Given the description of an element on the screen output the (x, y) to click on. 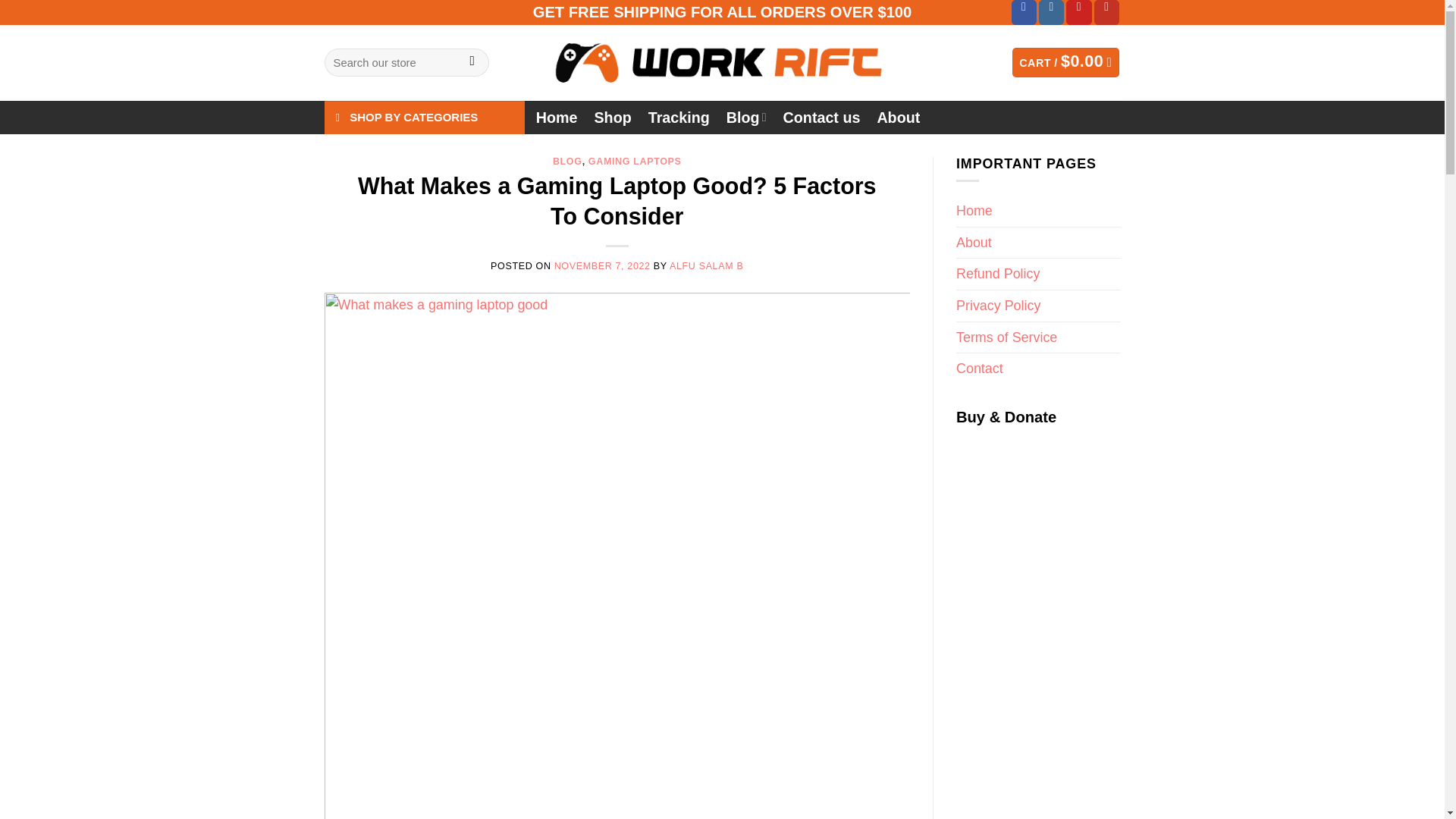
Follow on Instagram (1051, 12)
Search (472, 62)
Follow on Pinterest (1077, 12)
Shop (612, 117)
Blog (746, 117)
Work Rift - Gamer Gear Headquarters (722, 62)
About (898, 117)
NOVEMBER 7, 2022 (602, 266)
Home (556, 117)
Follow on Facebook (1023, 12)
Tracking (678, 117)
Follow on YouTube (1106, 12)
Cart (1065, 61)
BLOG (567, 161)
